Given the description of an element on the screen output the (x, y) to click on. 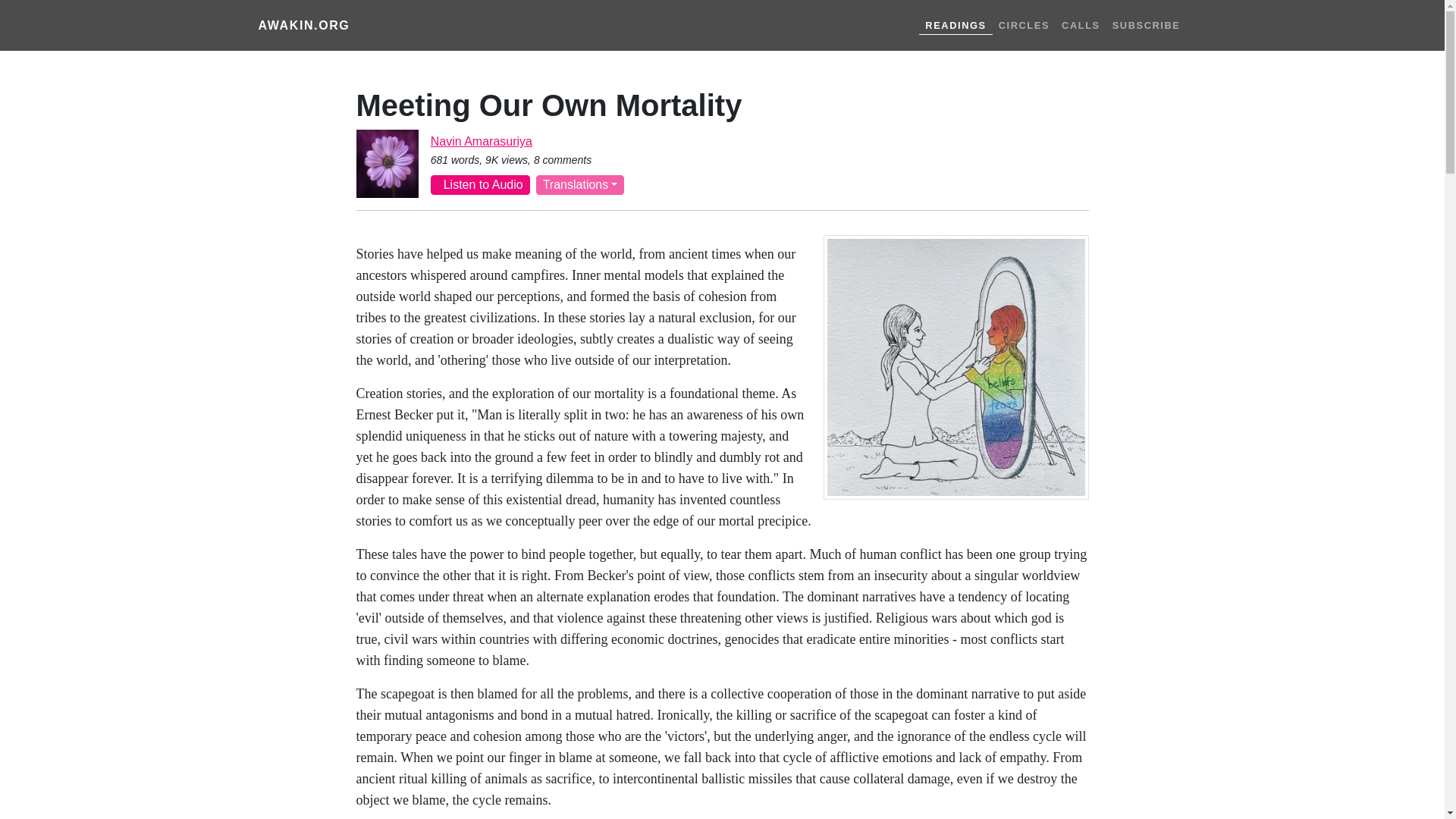
AWAKIN.ORG (303, 25)
CIRCLES (1023, 25)
READINGS (954, 23)
Listen to Audio (479, 184)
Translations (579, 184)
SUBSCRIBE (1146, 25)
Navin Amarasuriya (481, 141)
CALLS (1080, 25)
